Given the description of an element on the screen output the (x, y) to click on. 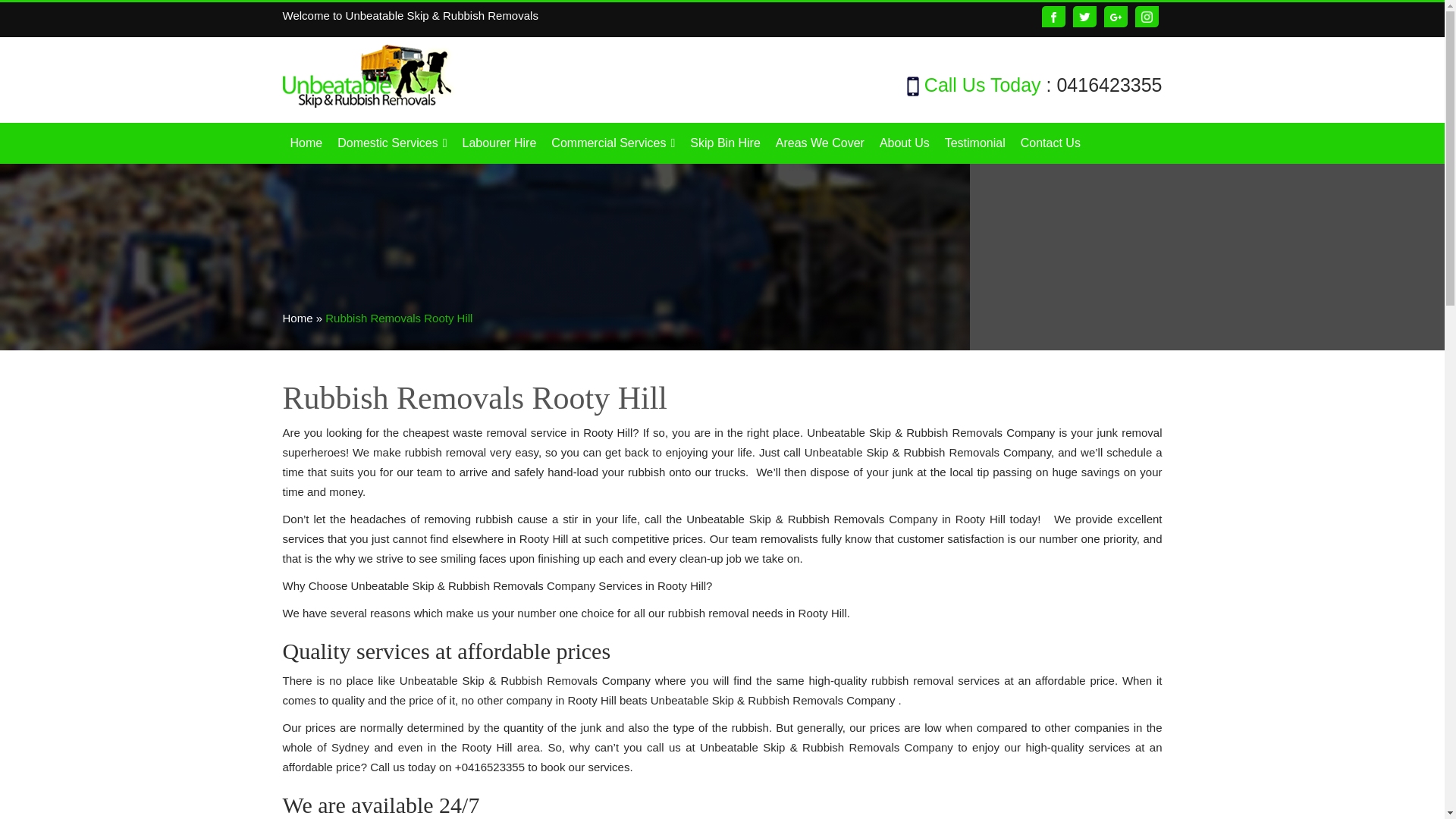
0416423355 (1109, 84)
Labourer Hire (499, 142)
Commercial Services (612, 142)
Home (306, 142)
Domestic Services (392, 142)
